Given the description of an element on the screen output the (x, y) to click on. 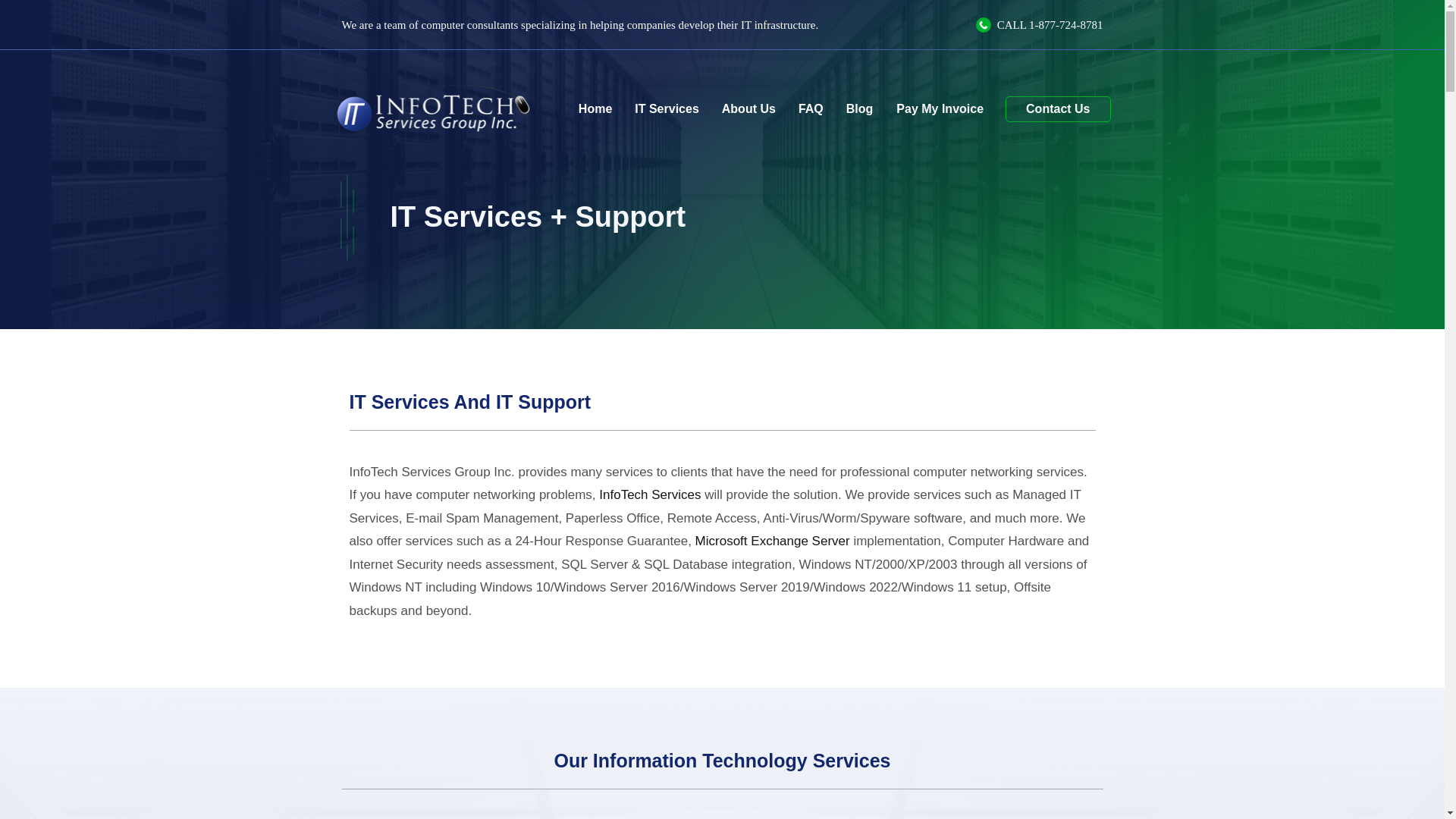
Home (595, 108)
Pay My Invoice (939, 108)
Blog (859, 108)
Contact Us (1057, 109)
Pay My Invoice (939, 108)
Microsoft Exchange Server (772, 540)
About Us (748, 108)
FAQ (810, 108)
Microsoft Exchange Server (772, 540)
1-877-724-8781 (1066, 24)
IT Services (666, 108)
InfoTech Services (649, 494)
